Given the description of an element on the screen output the (x, y) to click on. 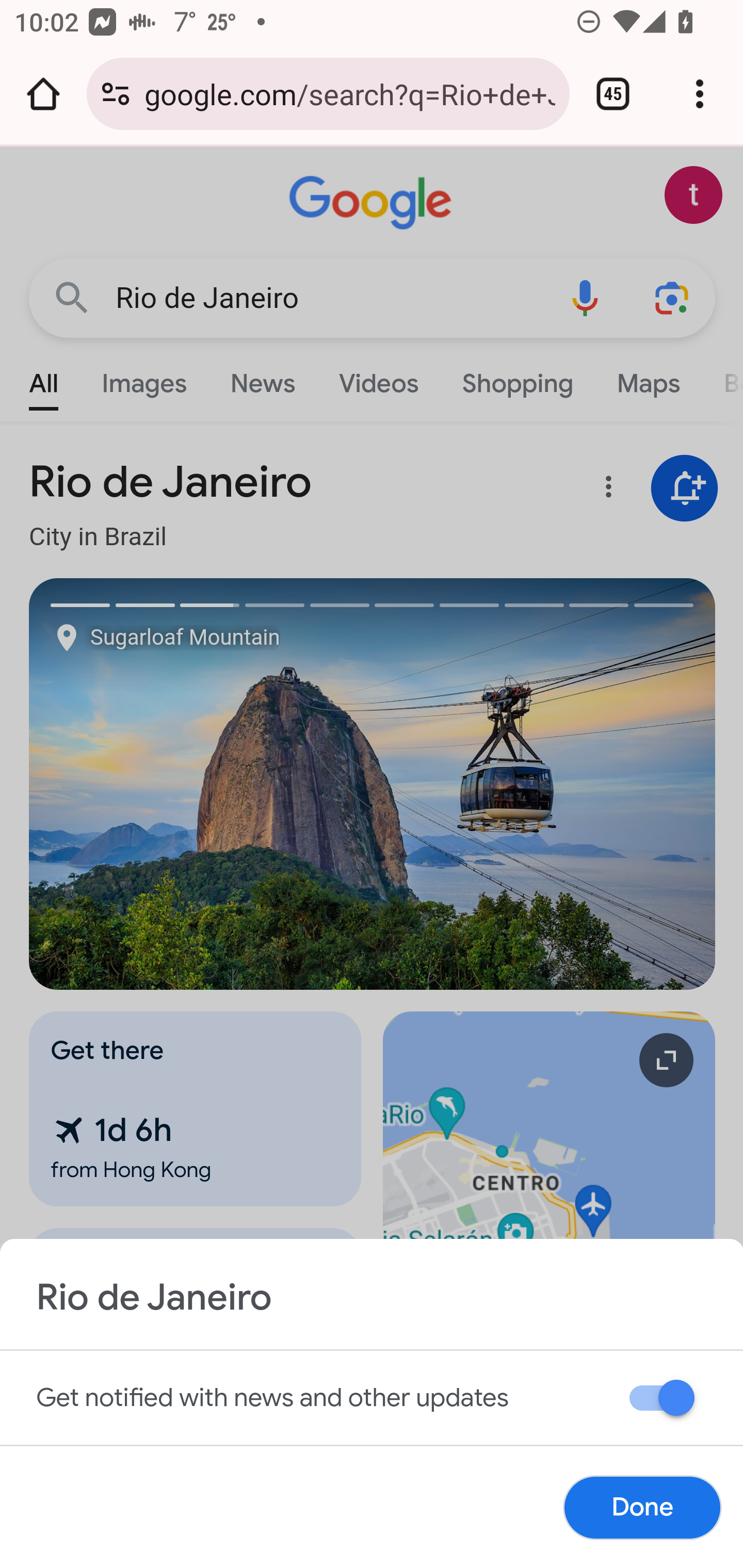
Open the home page (43, 93)
Connection is secure (115, 93)
Switch or close tabs (612, 93)
Customize and control Google Chrome (699, 93)
Get notifications about Rio de Janeiro (665, 1400)
Done (642, 1507)
